Given the description of an element on the screen output the (x, y) to click on. 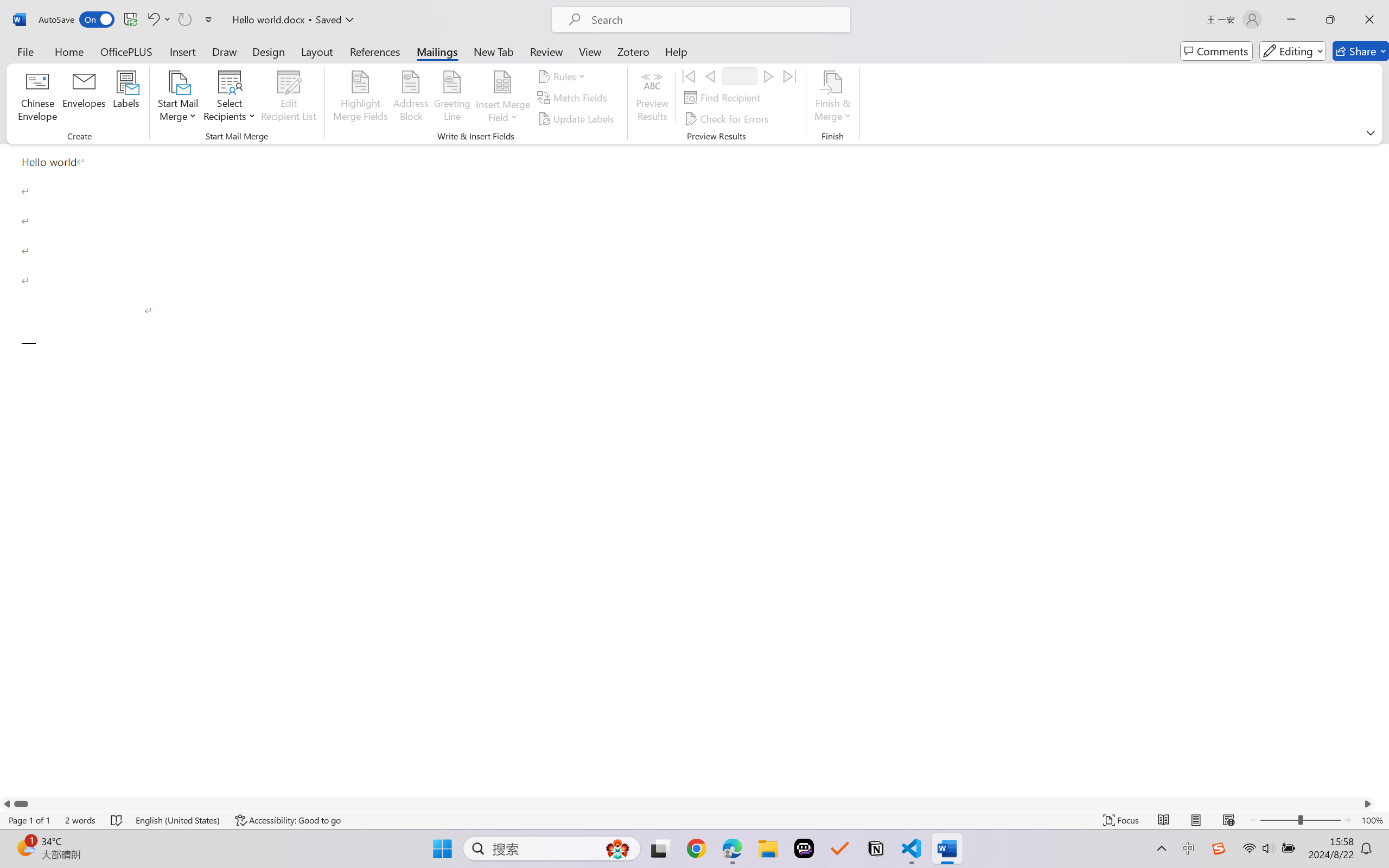
Last (790, 75)
Draw (224, 51)
Undo Paragraph Formatting (158, 19)
Accessibility Checker Accessibility: Good to go (288, 819)
Class: MsoCommandBar (694, 819)
Match Fields... (573, 97)
Next (768, 75)
Help (675, 51)
Page Number Page 1 of 1 (29, 819)
Home (69, 51)
Insert Merge Field (502, 97)
Word Count 2 words (80, 819)
Read Mode (1163, 819)
References (375, 51)
